Given the description of an element on the screen output the (x, y) to click on. 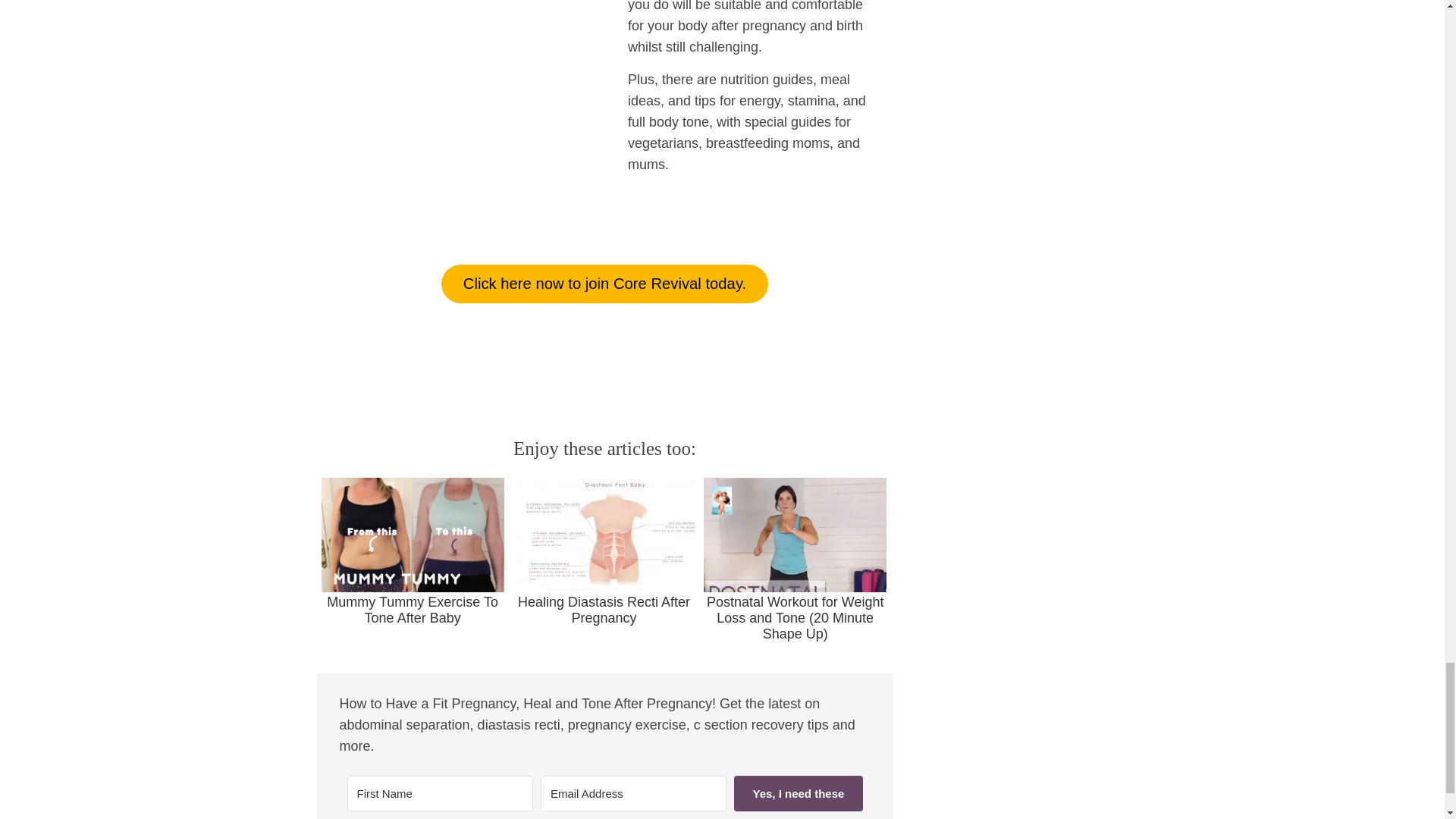
Yes, I need these (797, 793)
Click here now to join Core Revival today. (604, 283)
Mummy Tummy Exercise To Tone After Baby (412, 551)
Healing Diastasis Recti After Pregnancy (604, 551)
